Given the description of an element on the screen output the (x, y) to click on. 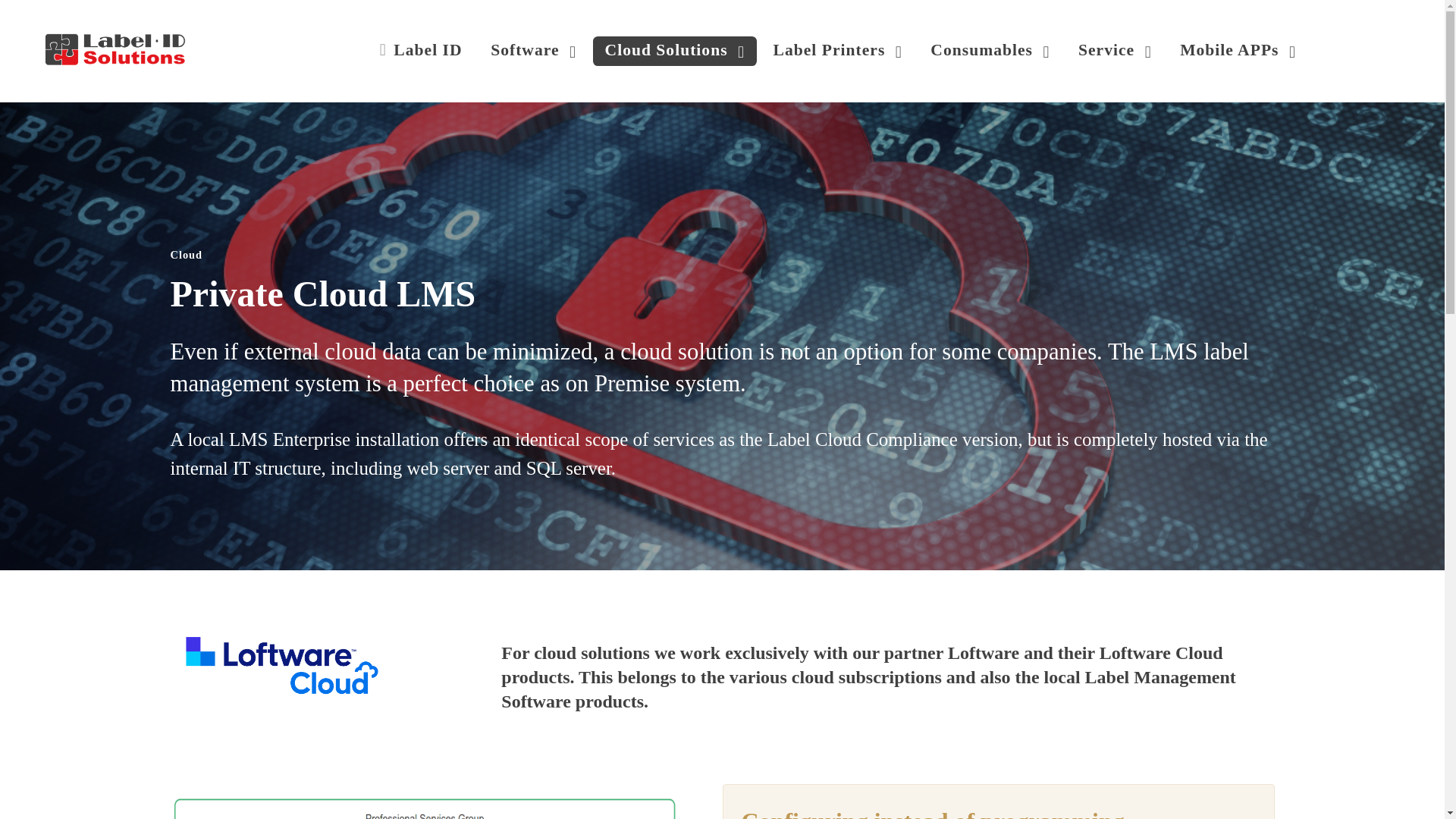
Label ID (421, 51)
Label ID (115, 48)
